Given the description of an element on the screen output the (x, y) to click on. 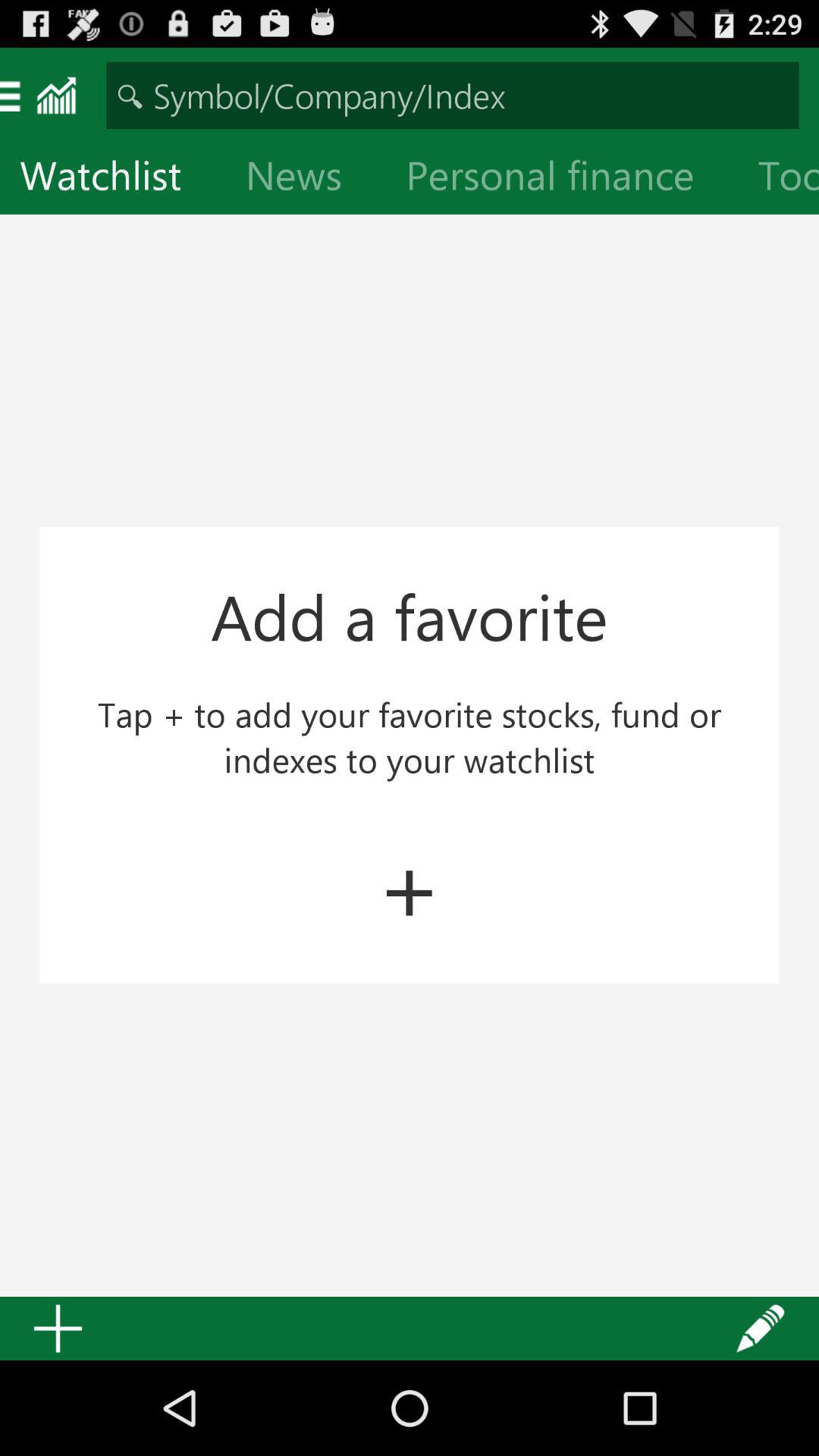
turn on the icon next to the personal finance (778, 178)
